Given the description of an element on the screen output the (x, y) to click on. 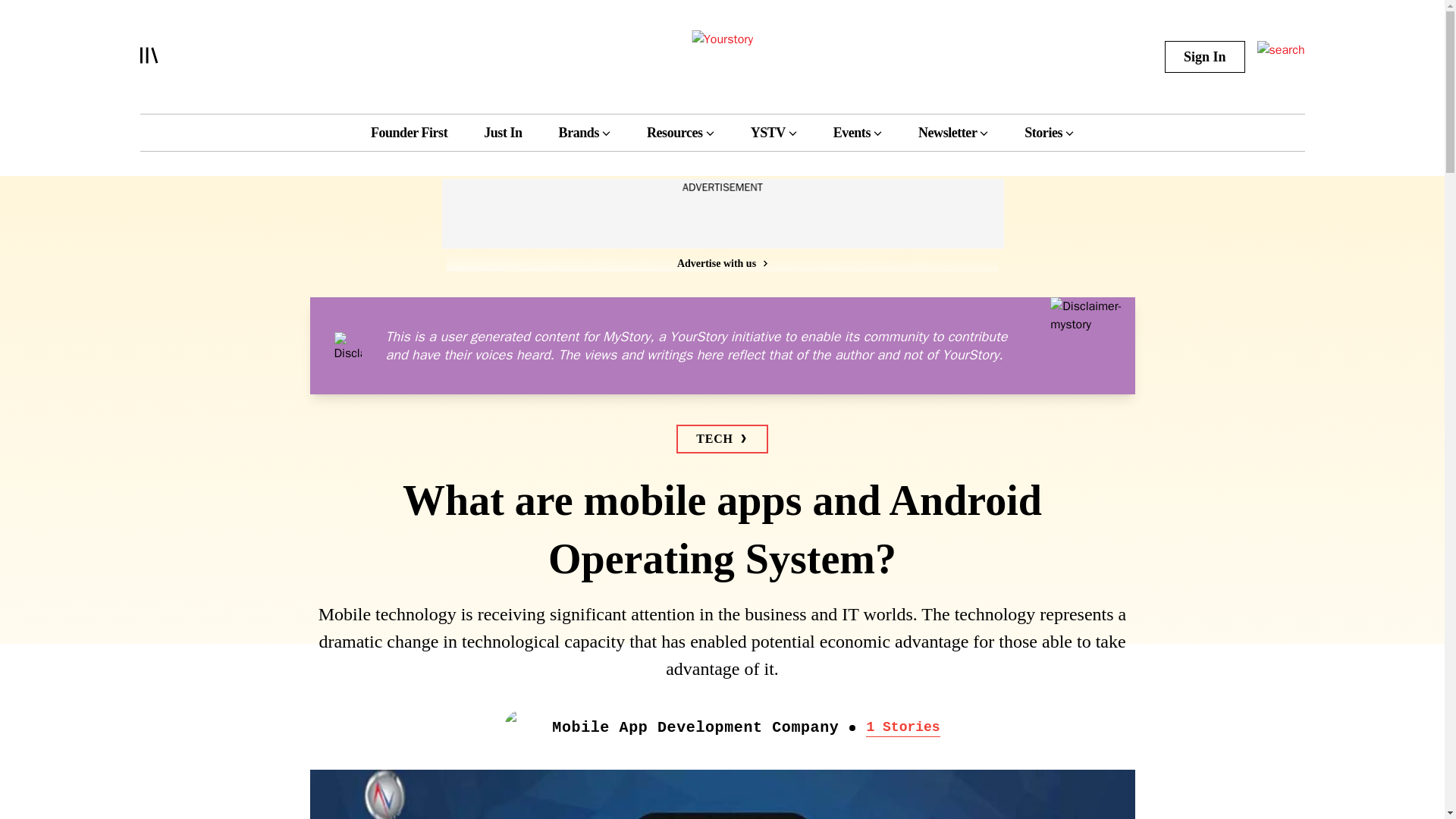
Advertise with us (721, 263)
1 Stories (902, 728)
Founder First (408, 132)
Just In (502, 132)
TECH (722, 439)
Mobile App Development Company (694, 727)
